Given the description of an element on the screen output the (x, y) to click on. 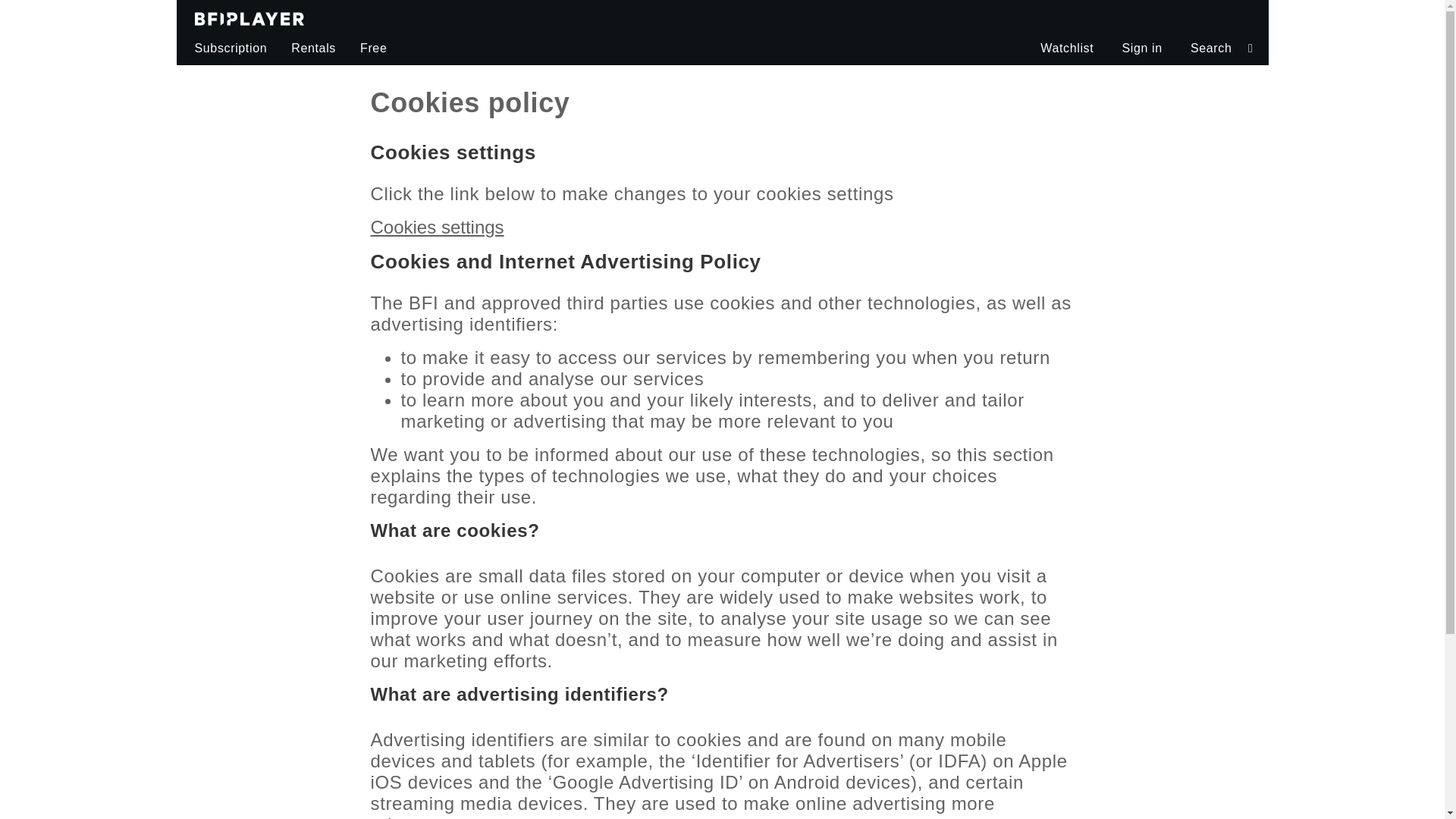
Watchlist (1066, 48)
Subscription (227, 48)
BFI Player (248, 15)
Free (372, 48)
Cookie settings (436, 227)
Search (1219, 48)
Cookies settings (436, 227)
Sign in (1141, 48)
Sign in (1141, 48)
Rentals (313, 48)
